Given the description of an element on the screen output the (x, y) to click on. 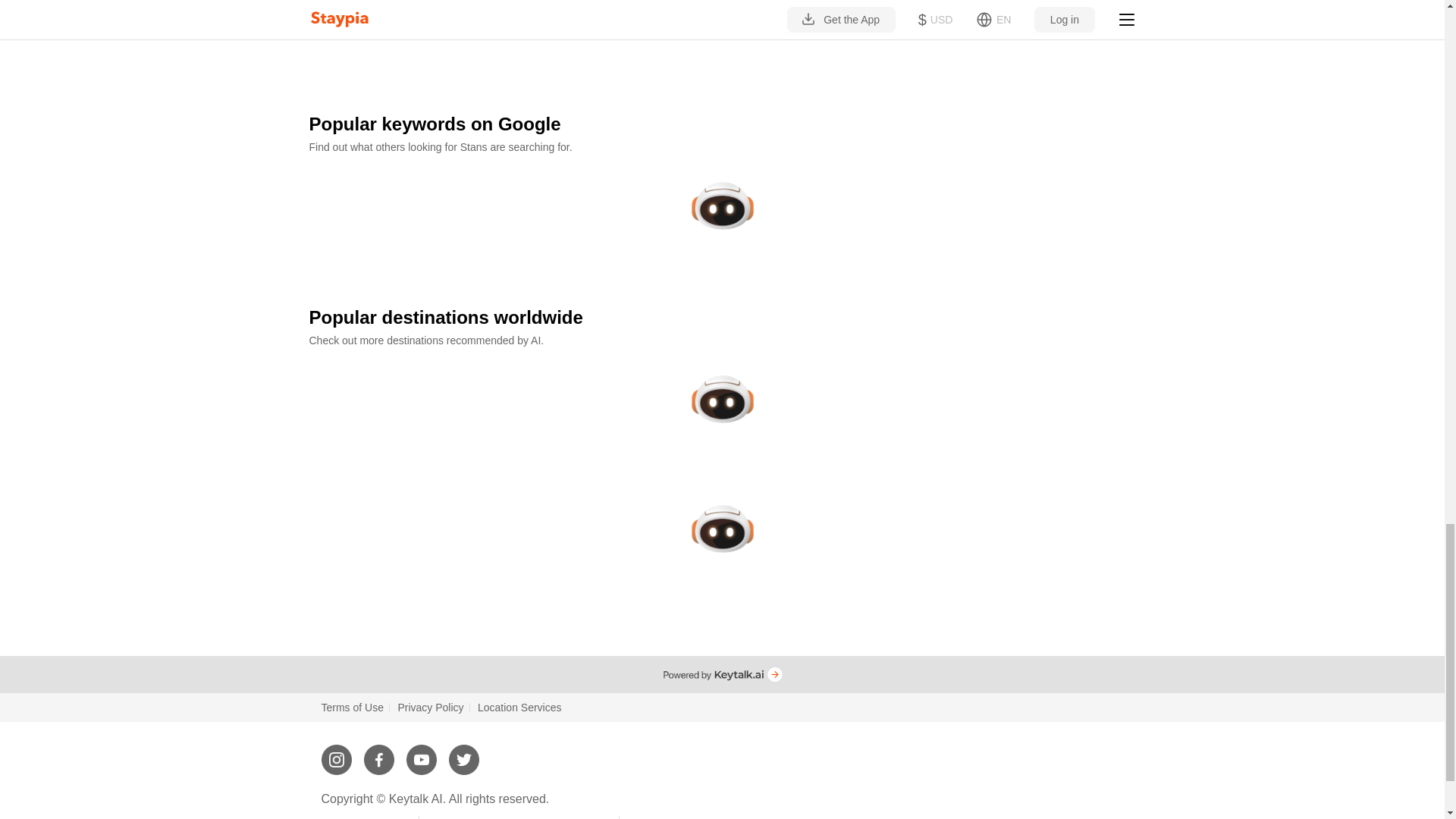
instagram (336, 753)
Terms of Use (352, 706)
facebook (379, 753)
twitter (463, 753)
Location Services (519, 706)
Privacy Policy (430, 706)
youtube (421, 753)
